Given the description of an element on the screen output the (x, y) to click on. 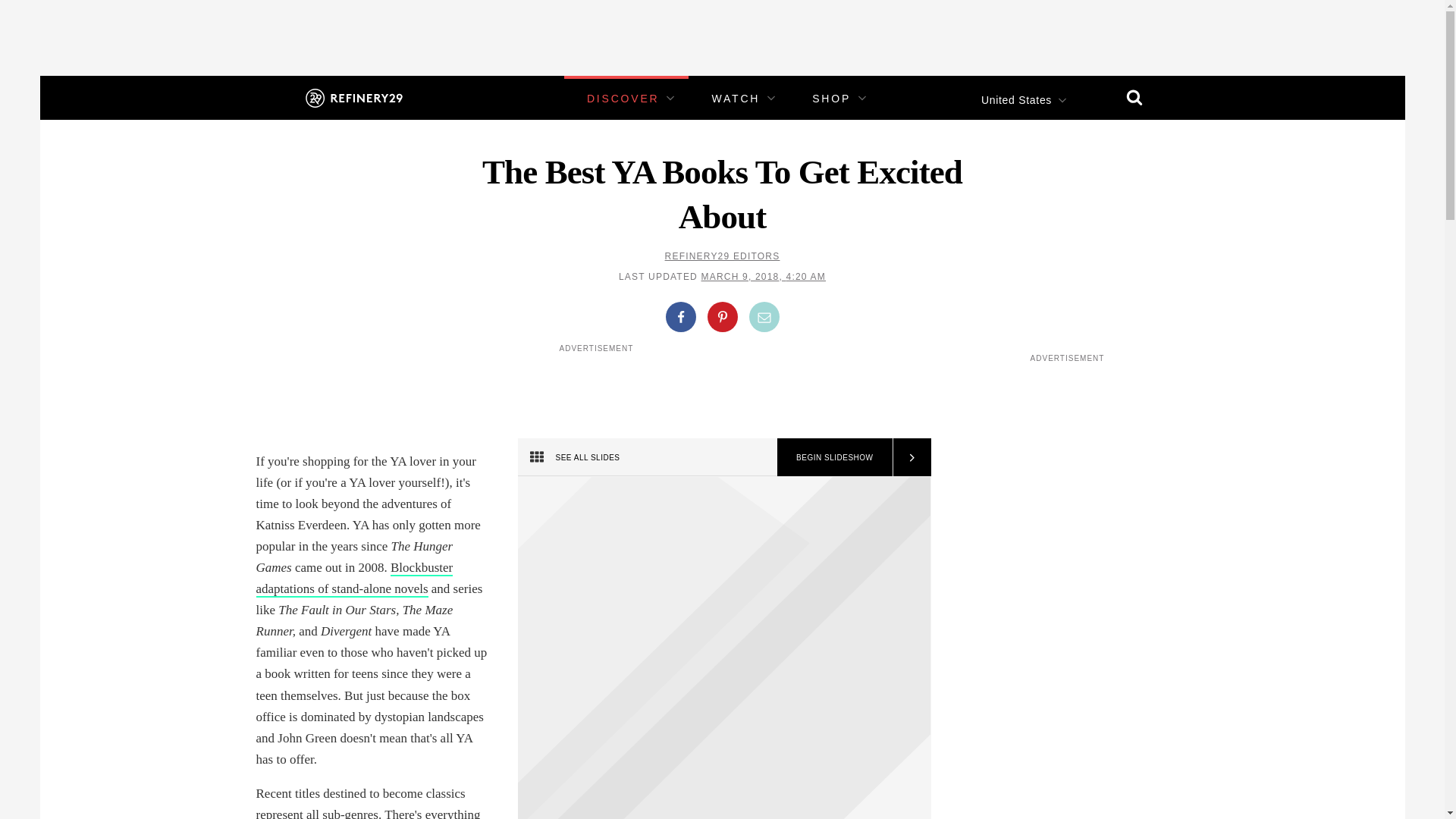
Next Slide (910, 456)
SHOP (831, 98)
Refinery29 (352, 97)
Share on Pinterest (721, 317)
Share on Facebook (680, 317)
WATCH (735, 98)
BEGIN SLIDESHOW (834, 456)
MARCH 9, 2018, 4:20 AM (762, 276)
Share by Email (763, 317)
Blockbuster adaptations of stand-alone novels (354, 578)
DISCOVER (622, 98)
Begin Slideshow (834, 456)
REFINERY29 EDITORS (722, 255)
